Given the description of an element on the screen output the (x, y) to click on. 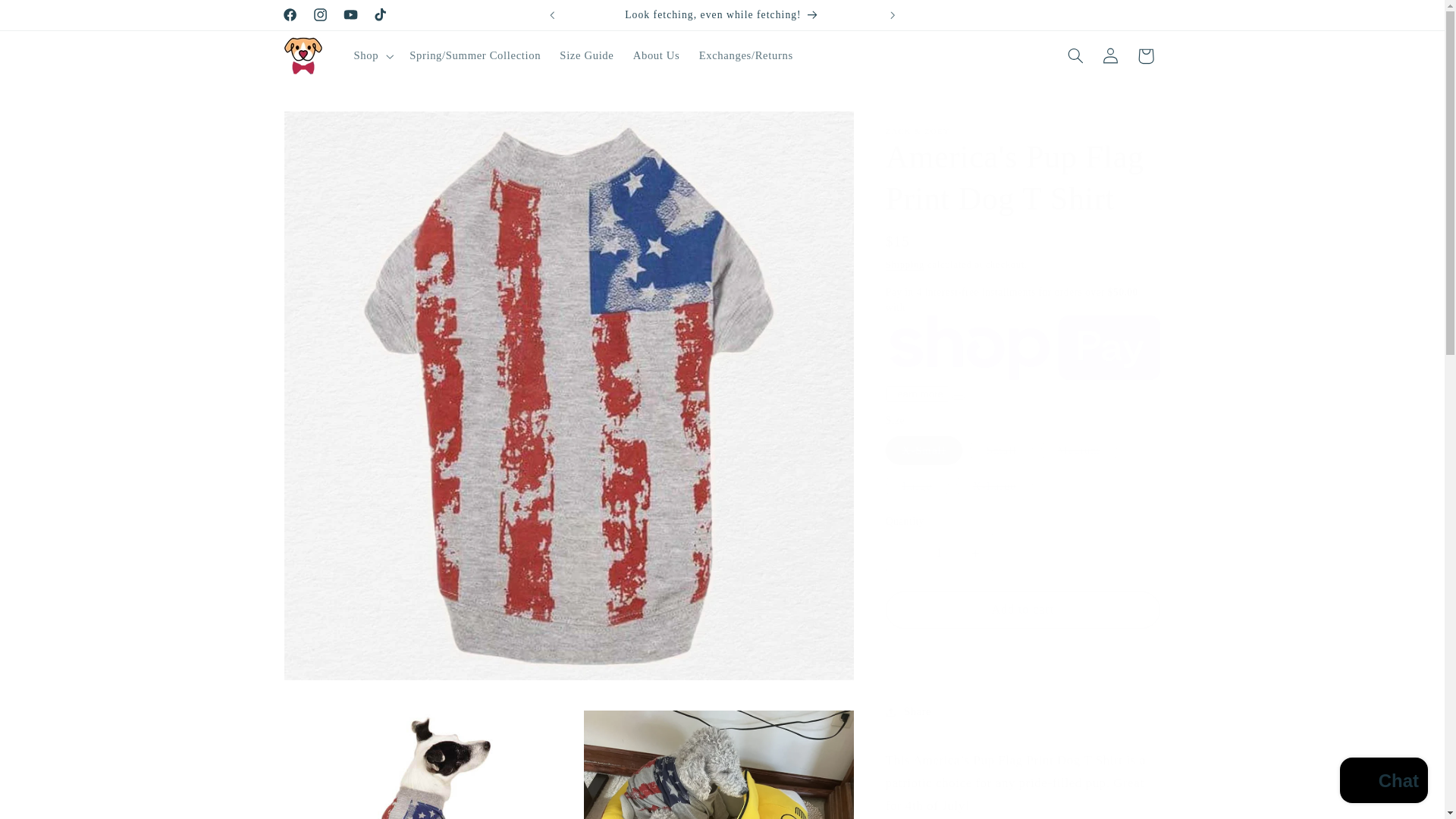
Shopify online store chat (1383, 781)
Open media 3 in modal (718, 764)
Skip to content (48, 18)
TikTok (380, 15)
Facebook (289, 15)
Look fetching, even while fetching! (722, 15)
Instagram (319, 15)
